Given the description of an element on the screen output the (x, y) to click on. 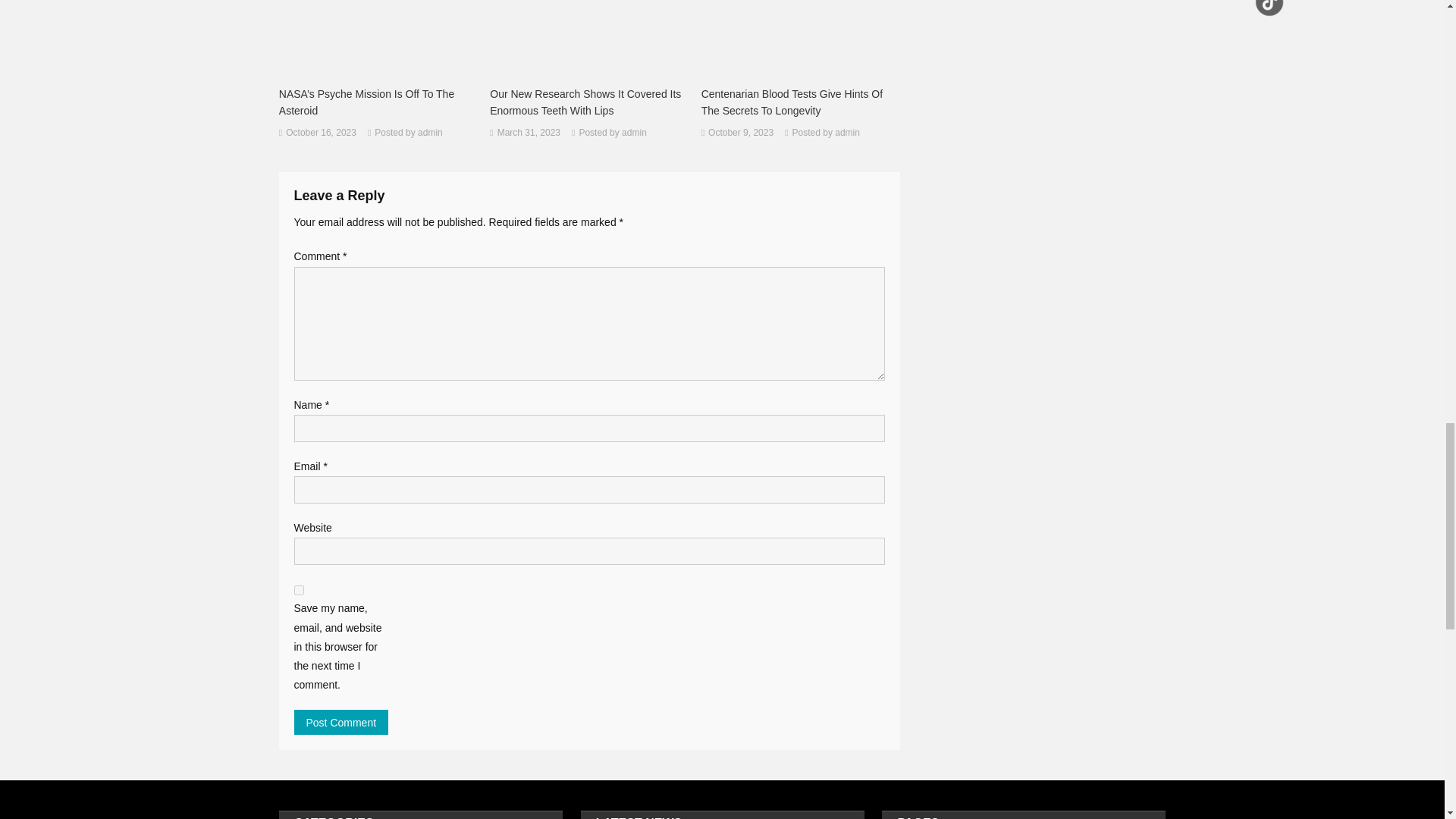
Posted by admin (408, 133)
March 31, 2023 (528, 133)
Post Comment (341, 722)
yes (299, 590)
October 16, 2023 (320, 133)
